Given the description of an element on the screen output the (x, y) to click on. 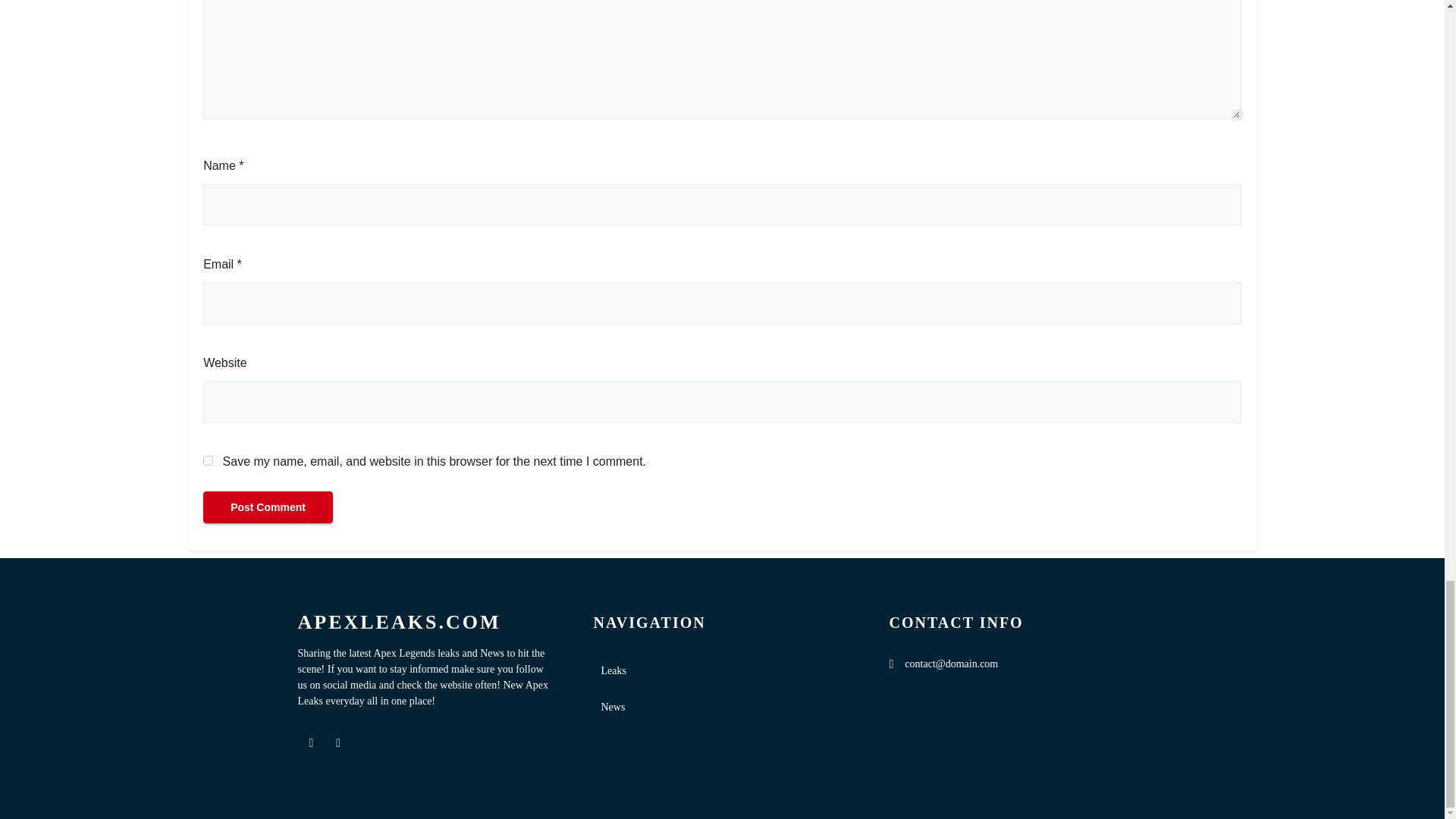
APEXLEAKS.COM (425, 621)
News (721, 707)
Post Comment (268, 507)
Post Comment (268, 507)
yes (207, 460)
Leaks (721, 670)
